Given the description of an element on the screen output the (x, y) to click on. 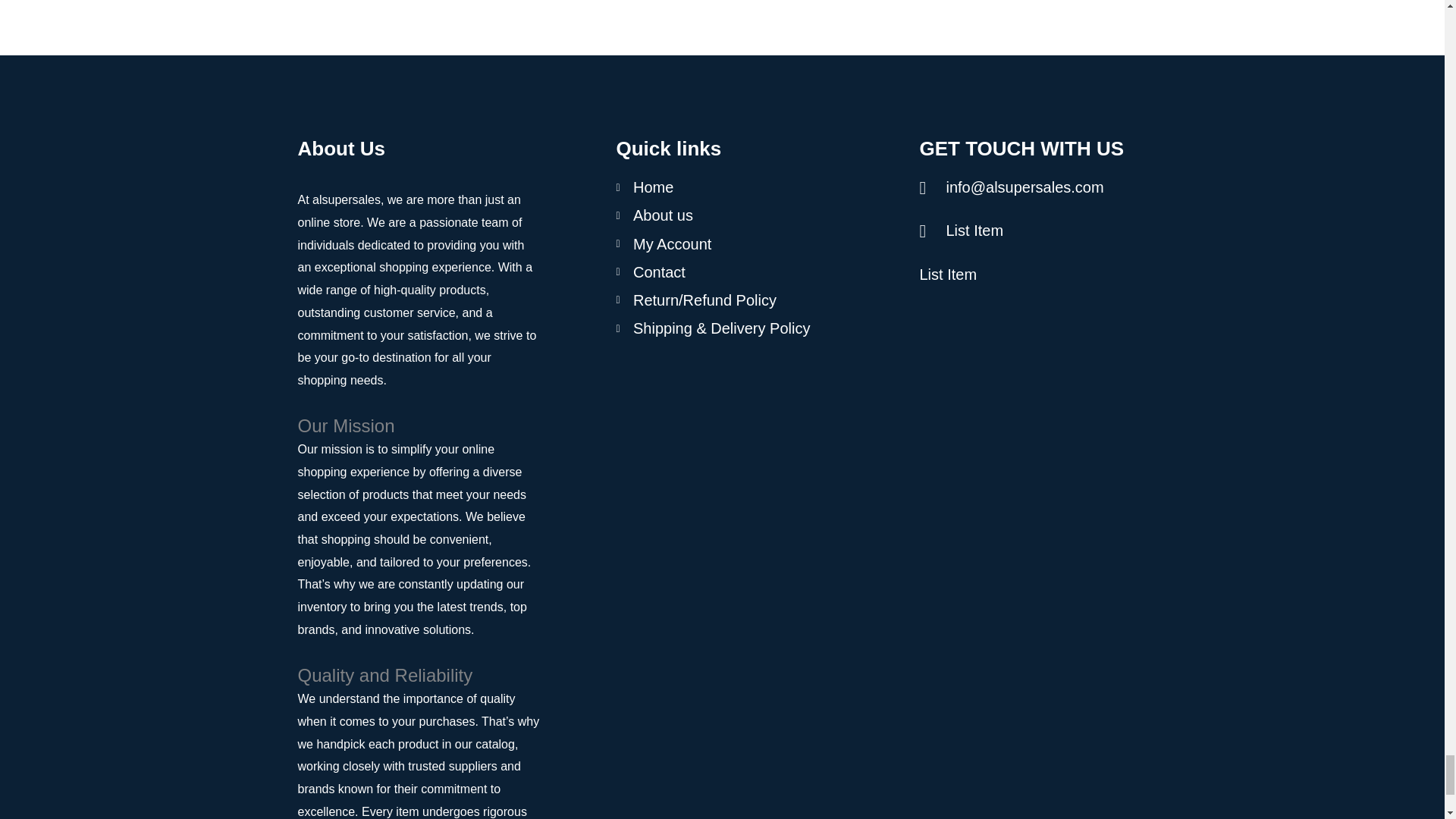
About Us (418, 155)
Quick links (744, 140)
GET TOUCH WITH US (1047, 140)
